Given the description of an element on the screen output the (x, y) to click on. 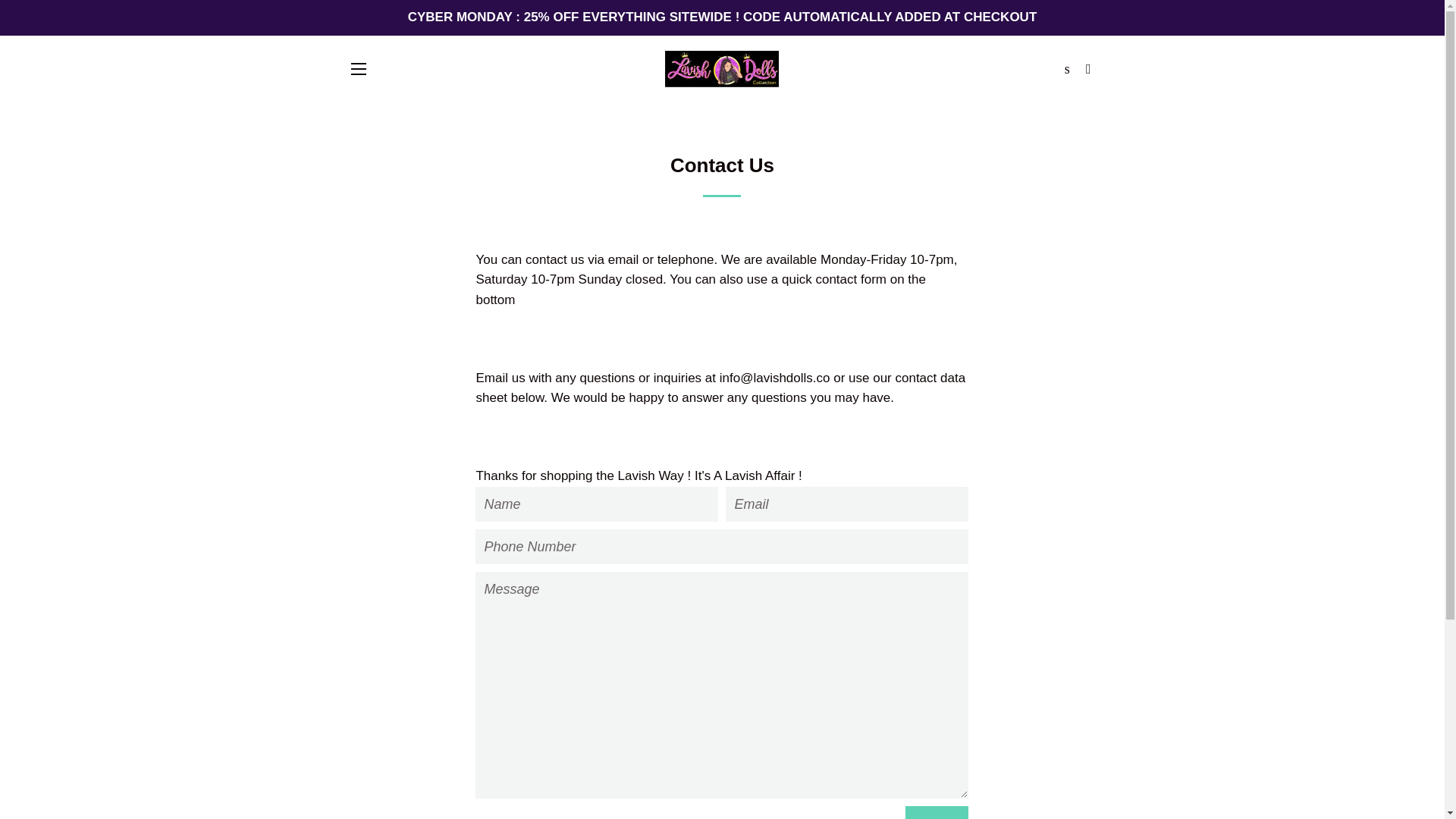
Send (936, 812)
SITE NAVIGATION (358, 68)
Send (936, 812)
